Given the description of an element on the screen output the (x, y) to click on. 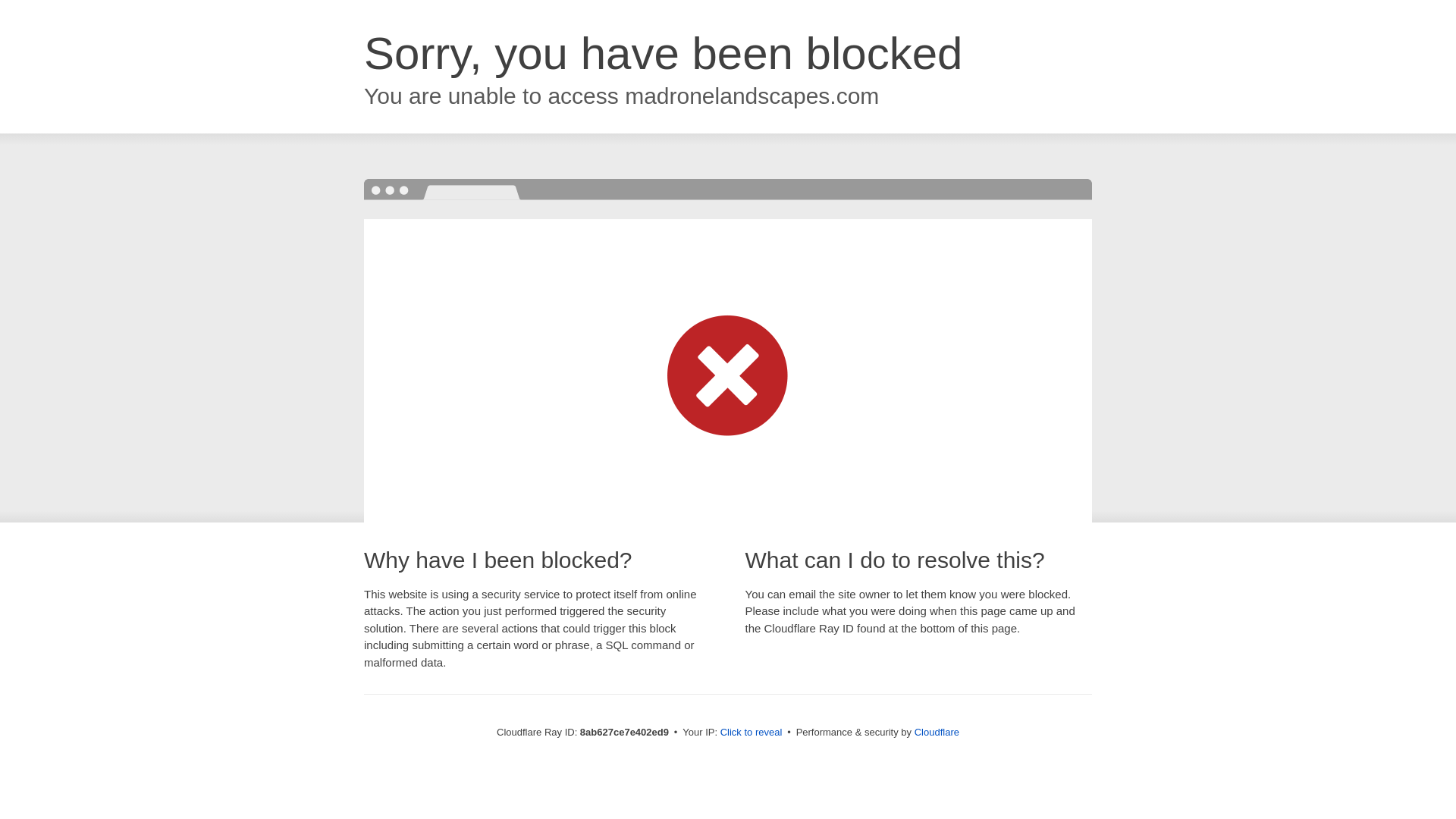
Cloudflare (936, 731)
Click to reveal (751, 732)
